Given the description of an element on the screen output the (x, y) to click on. 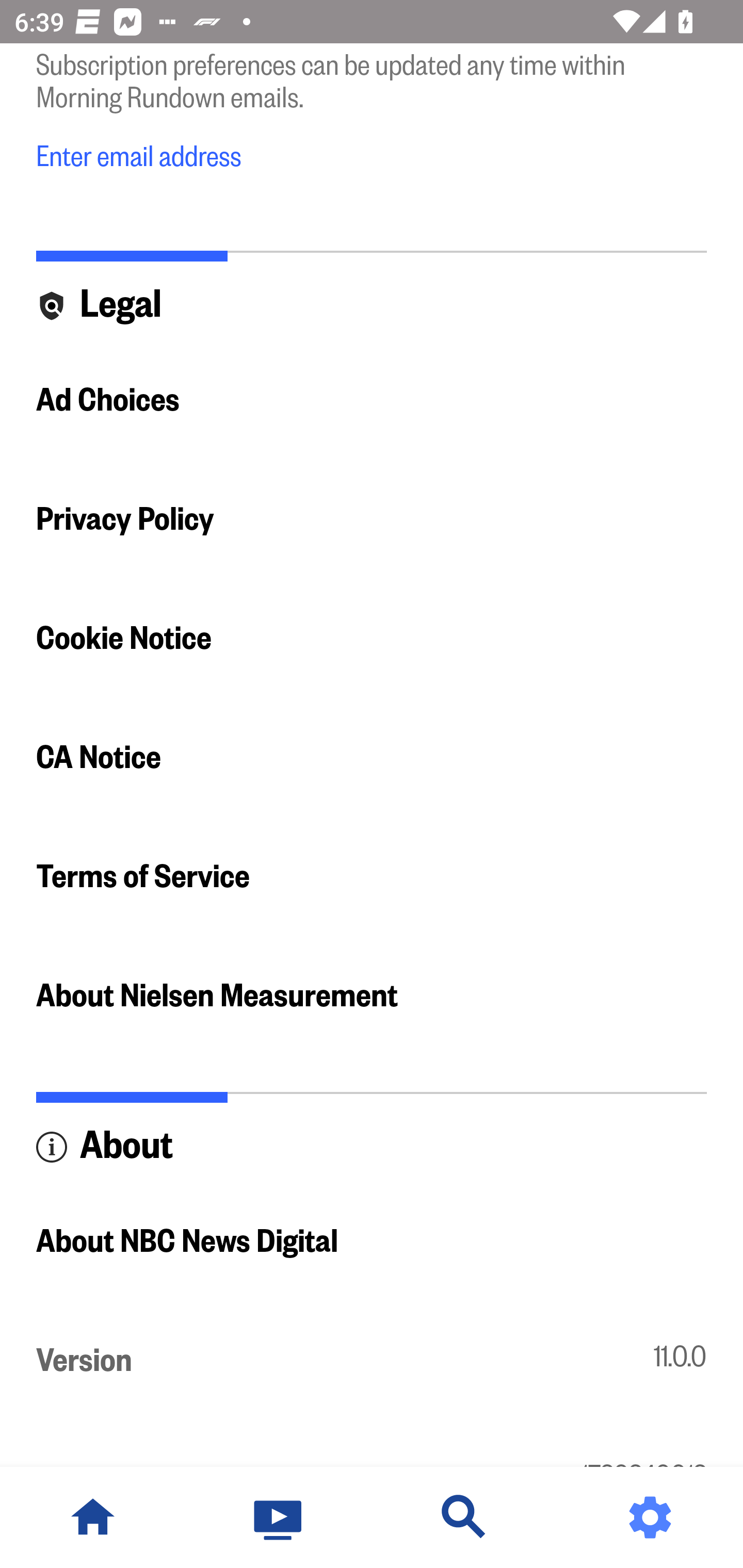
Ad Choices (371, 399)
Privacy Policy (371, 518)
Cookie Notice (371, 637)
CA Notice (371, 756)
Terms of Service (371, 876)
About Nielsen Measurement (371, 995)
About NBC News Digital (371, 1241)
Version 11.0.0 (371, 1360)
NBC News Home (92, 1517)
Watch (278, 1517)
Discover (464, 1517)
